Given the description of an element on the screen output the (x, y) to click on. 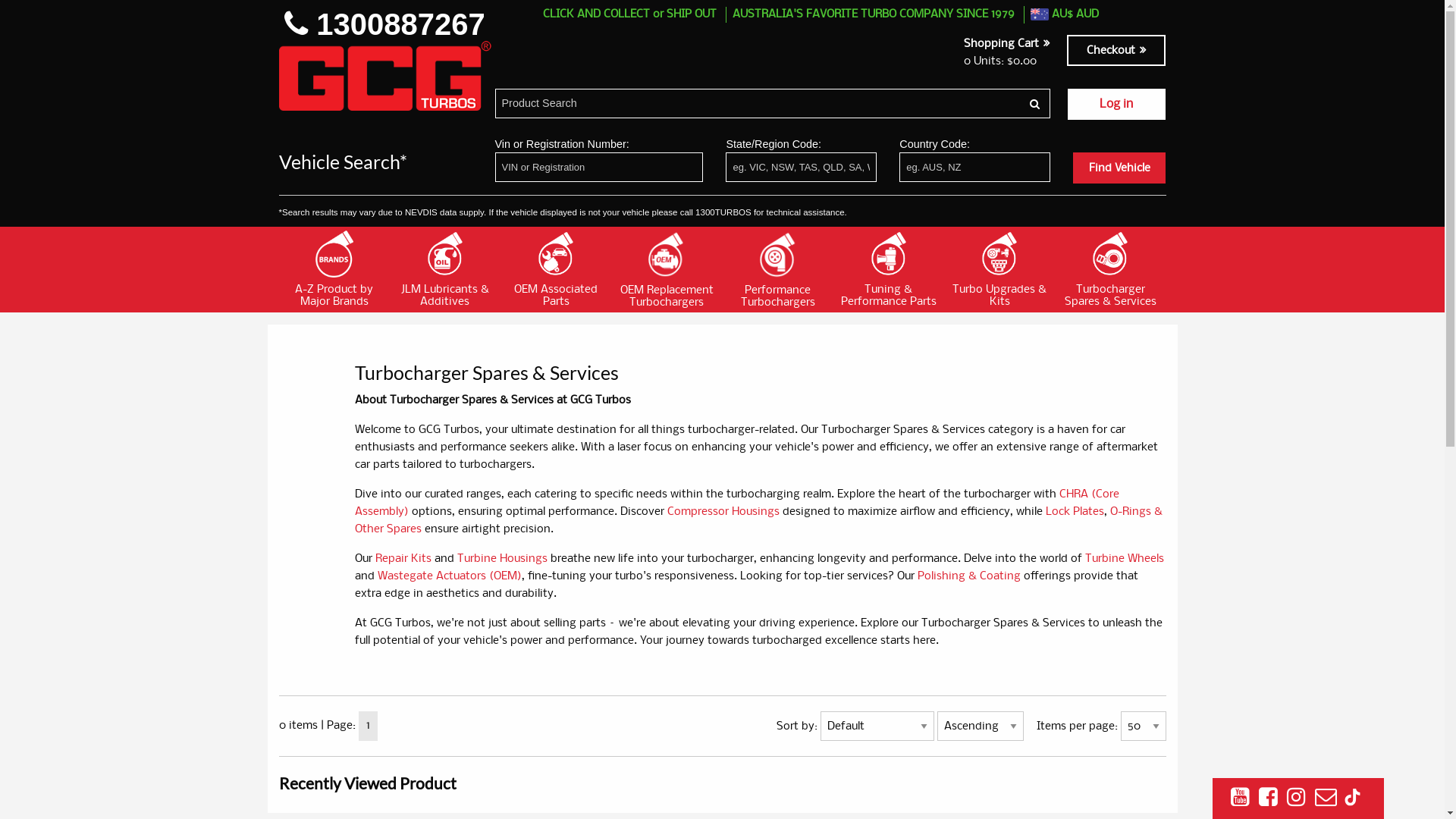
Lock Plates Element type: text (1073, 511)
AUSTRALIA'S FAVORITE TURBO COMPANY SINCE 1979 Element type: text (873, 14)
A-Z Product by Major Brands Element type: text (334, 268)
Find Vehicle Element type: text (1119, 167)
Turbine Housings Element type: text (501, 558)
O-Rings & Other Spares Element type: text (758, 520)
Polishing & Coating Element type: text (968, 576)
Turbine Wheels Element type: text (1123, 558)
OEM Associated Parts Element type: text (555, 268)
Wastegate Actuators (OEM) Element type: text (449, 576)
CLICK AND COLLECT or SHIP OUT Element type: text (629, 14)
Checkout Element type: text (1115, 49)
Log in Element type: text (1116, 103)
Shopping Cart Element type: text (1006, 43)
Compressor Housings Element type: text (723, 511)
OEM Replacement Turbochargers Element type: text (666, 268)
CHRA (Core Assembly) Element type: text (736, 502)
Tuning & Performance Parts Element type: text (888, 268)
Turbocharger Spares & Services Element type: text (1109, 268)
Turbo Upgrades & Kits Element type: text (999, 268)
JLM Lubricants & Additives Element type: text (444, 268)
Repair Kits Element type: text (402, 558)
Performance Turbochargers Element type: text (776, 268)
